Given the description of an element on the screen output the (x, y) to click on. 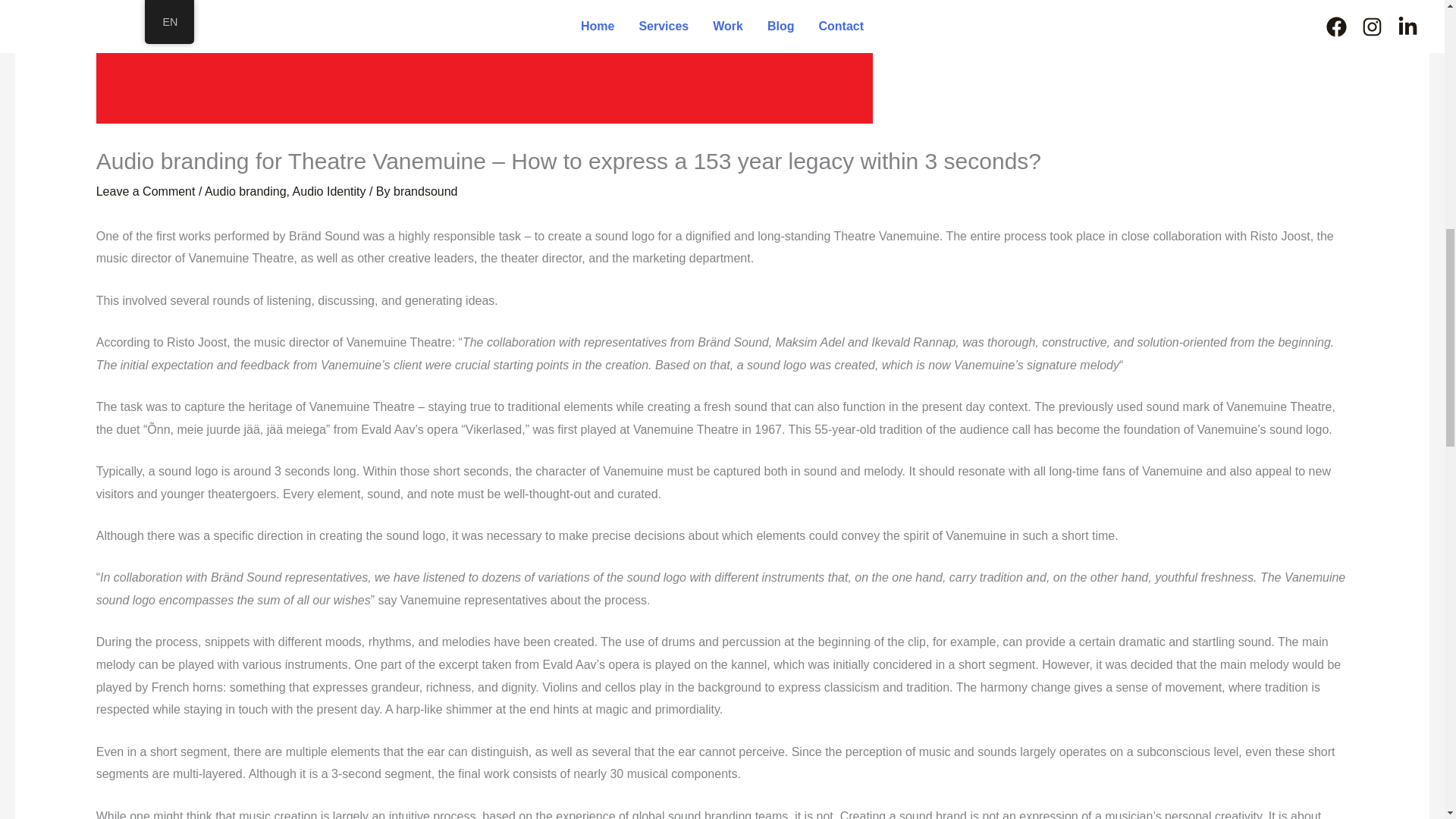
brandsound (425, 191)
Audio Identity (329, 191)
Leave a Comment (145, 191)
View all posts by brandsound (425, 191)
Audio branding (245, 191)
